Given the description of an element on the screen output the (x, y) to click on. 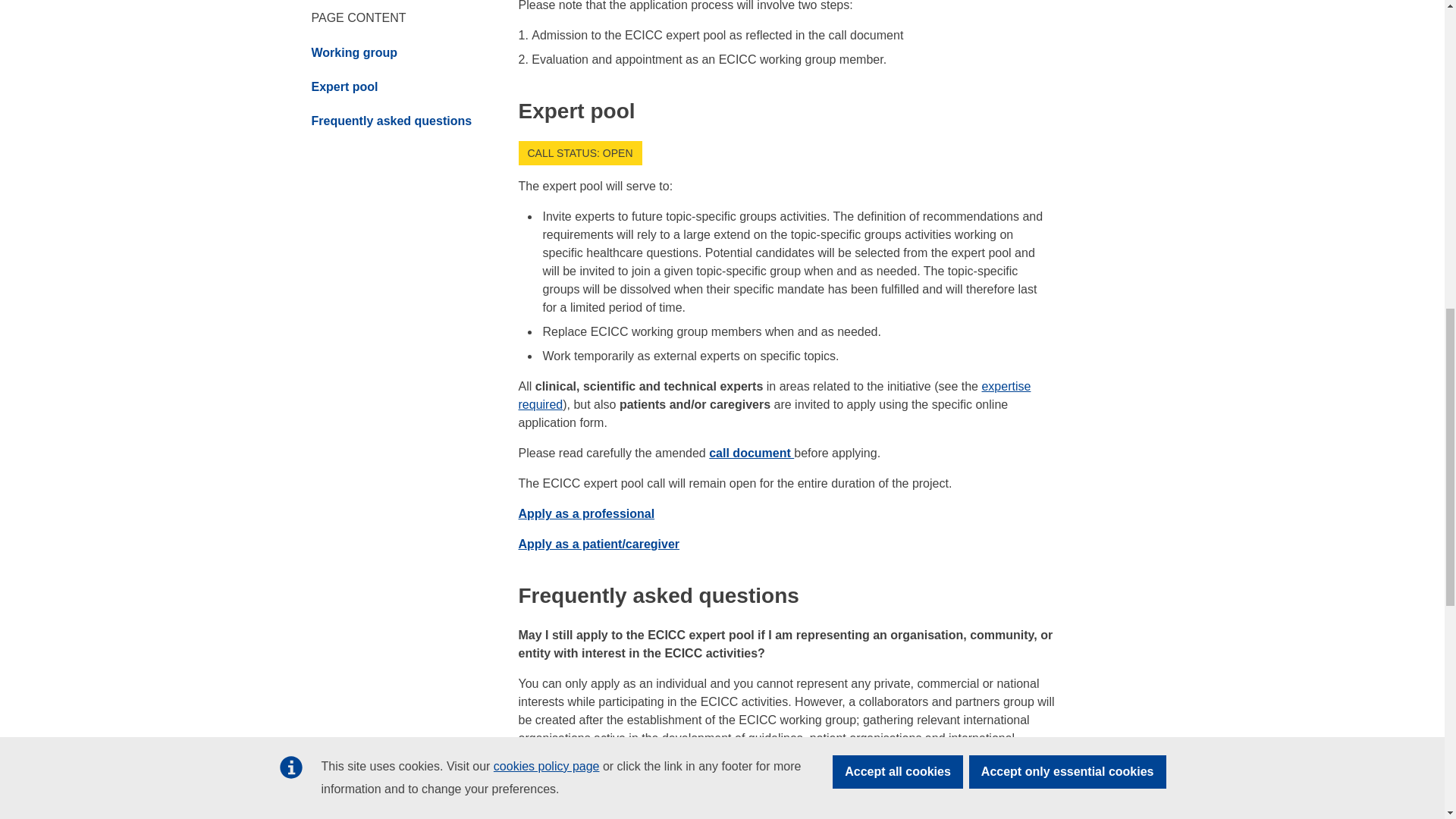
expertise required (774, 395)
call document (751, 452)
Apply as a professional (586, 513)
